Given the description of an element on the screen output the (x, y) to click on. 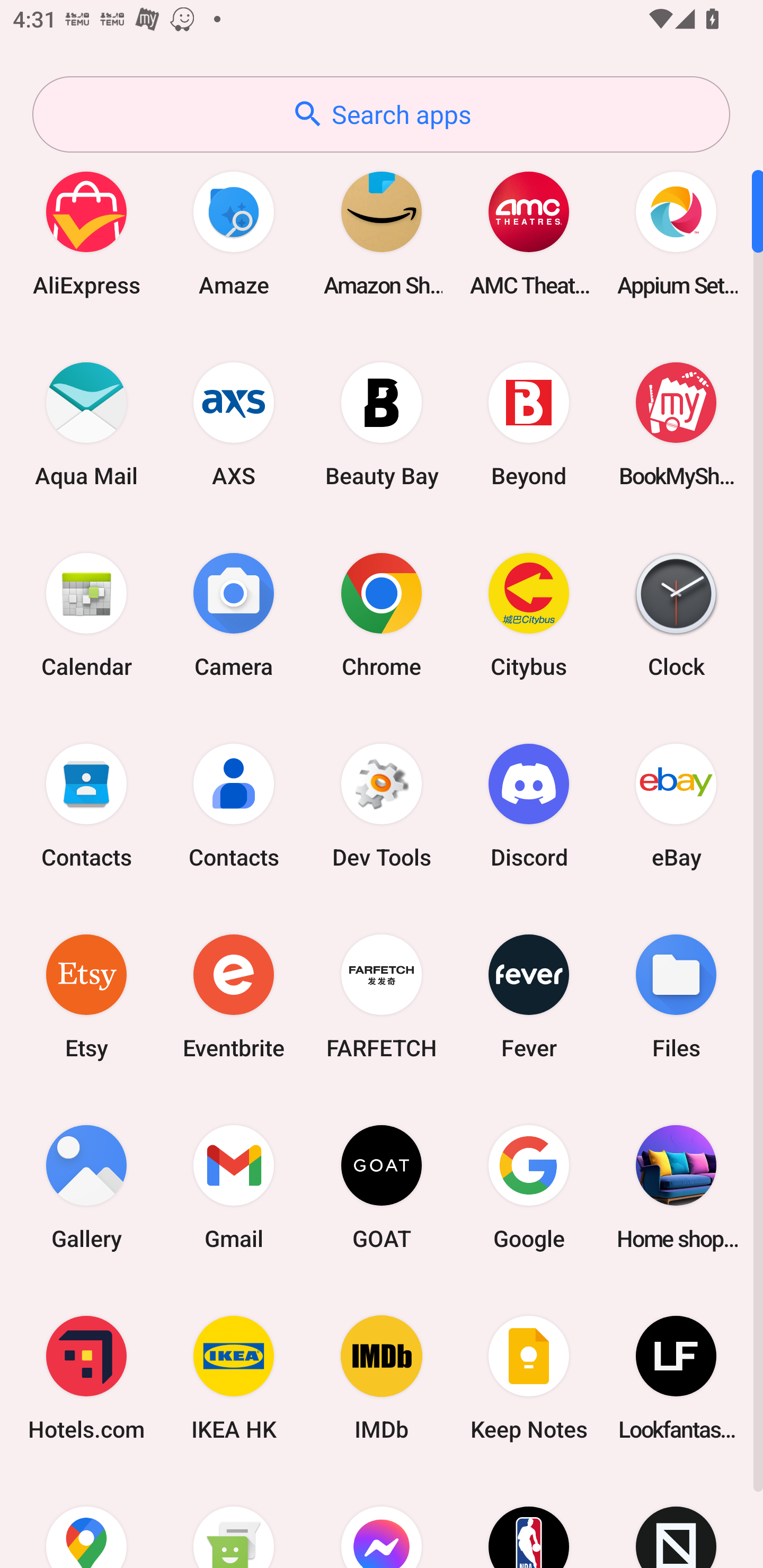
  Search apps (381, 114)
AliExpress (86, 233)
Amaze (233, 233)
Amazon Shopping (381, 233)
AMC Theatres (528, 233)
Appium Settings (676, 233)
Aqua Mail (86, 424)
AXS (233, 424)
Beauty Bay (381, 424)
Beyond (528, 424)
BookMyShow (676, 424)
Calendar (86, 614)
Camera (233, 614)
Chrome (381, 614)
Citybus (528, 614)
Clock (676, 614)
Contacts (86, 805)
Contacts (233, 805)
Dev Tools (381, 805)
Discord (528, 805)
eBay (676, 805)
Etsy (86, 996)
Eventbrite (233, 996)
FARFETCH (381, 996)
Fever (528, 996)
Files (676, 996)
Gallery (86, 1186)
Gmail (233, 1186)
GOAT (381, 1186)
Google (528, 1186)
Home shopping (676, 1186)
Hotels.com (86, 1377)
IKEA HK (233, 1377)
IMDb (381, 1377)
Keep Notes (528, 1377)
Lookfantastic (676, 1377)
Maps (86, 1520)
Messaging (233, 1520)
Messenger (381, 1520)
NBA (528, 1520)
Novelship (676, 1520)
